Given the description of an element on the screen output the (x, y) to click on. 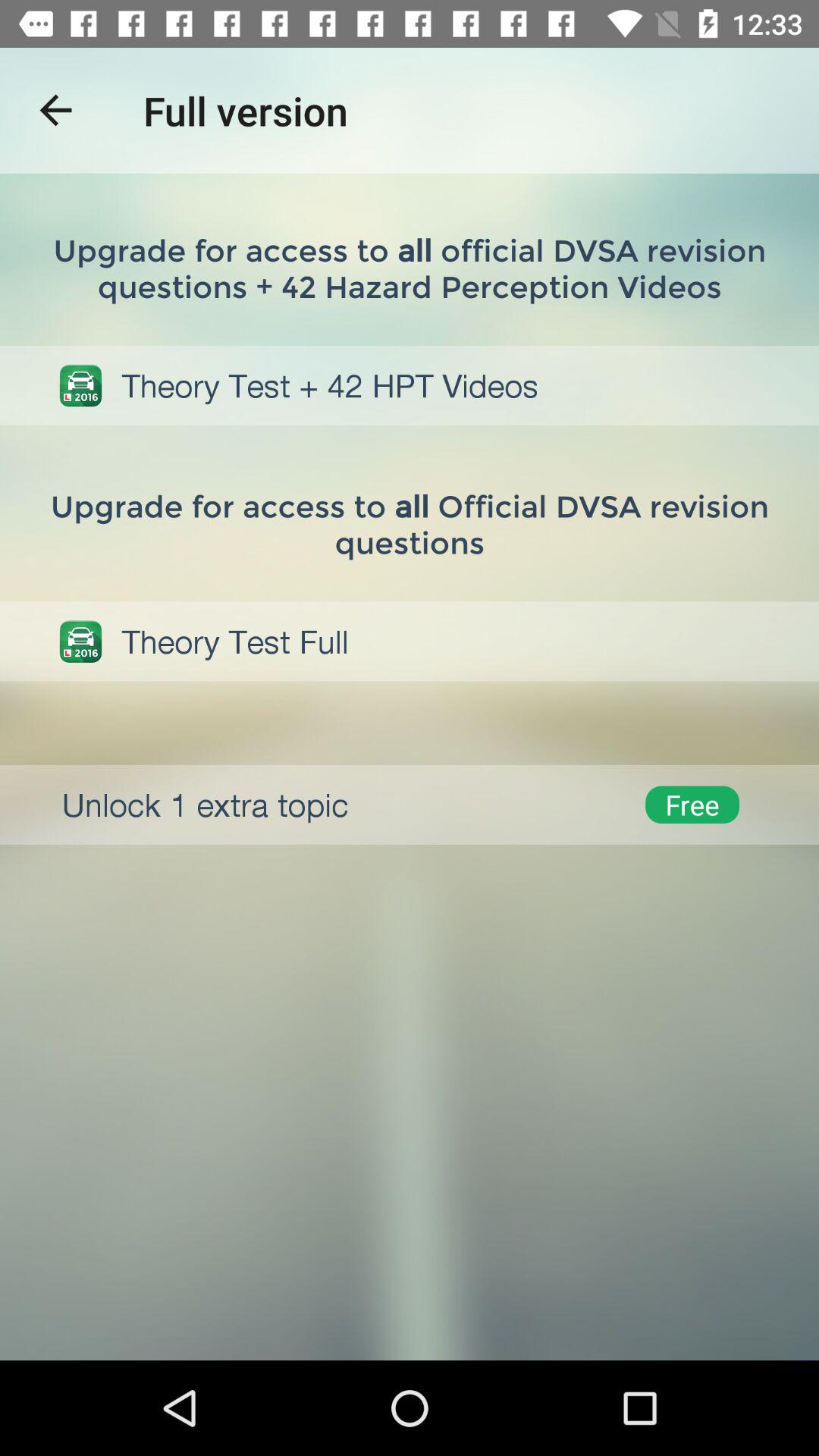
select the item to the left of full version (55, 110)
